Given the description of an element on the screen output the (x, y) to click on. 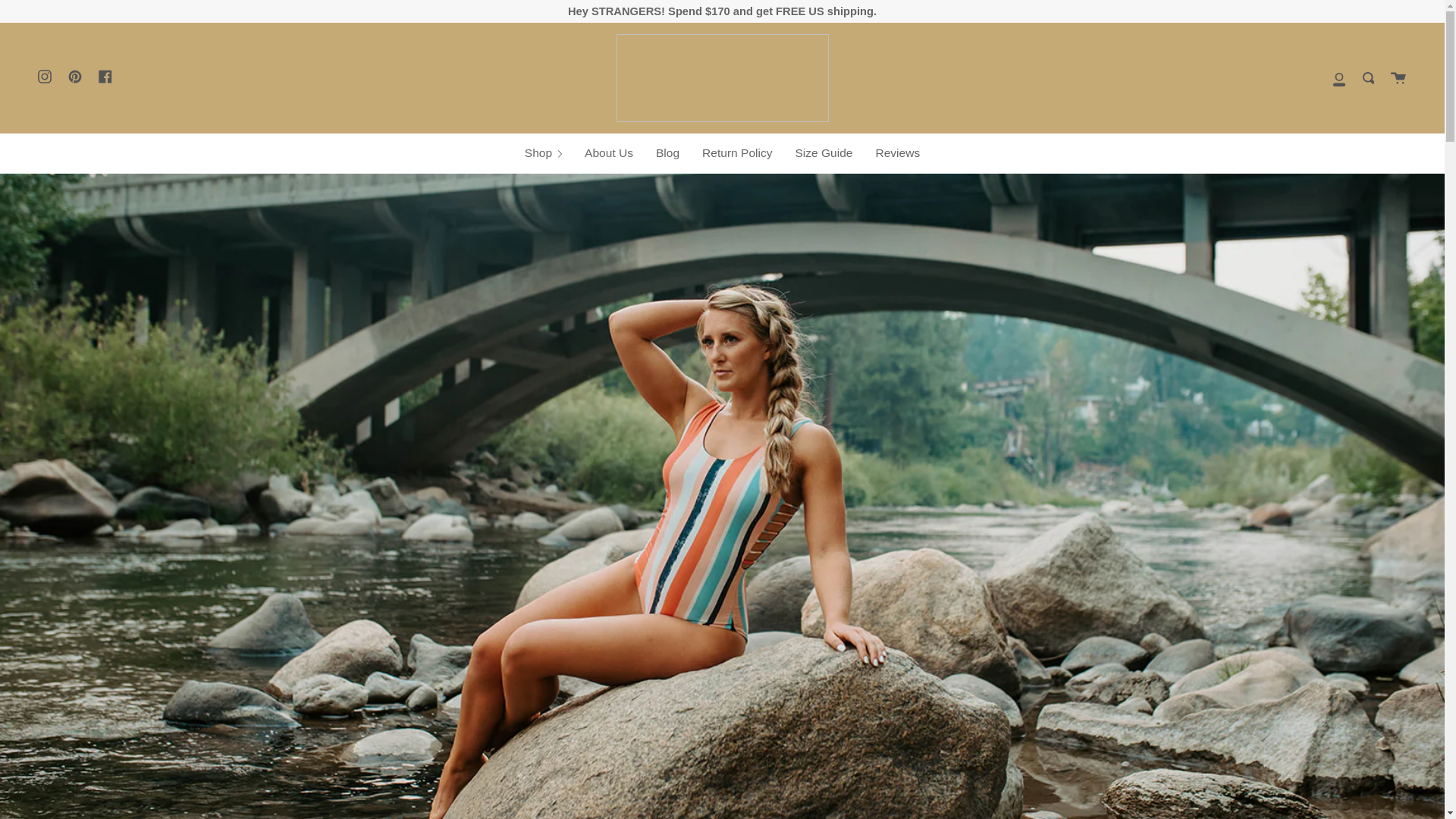
Shop (543, 152)
